Given the description of an element on the screen output the (x, y) to click on. 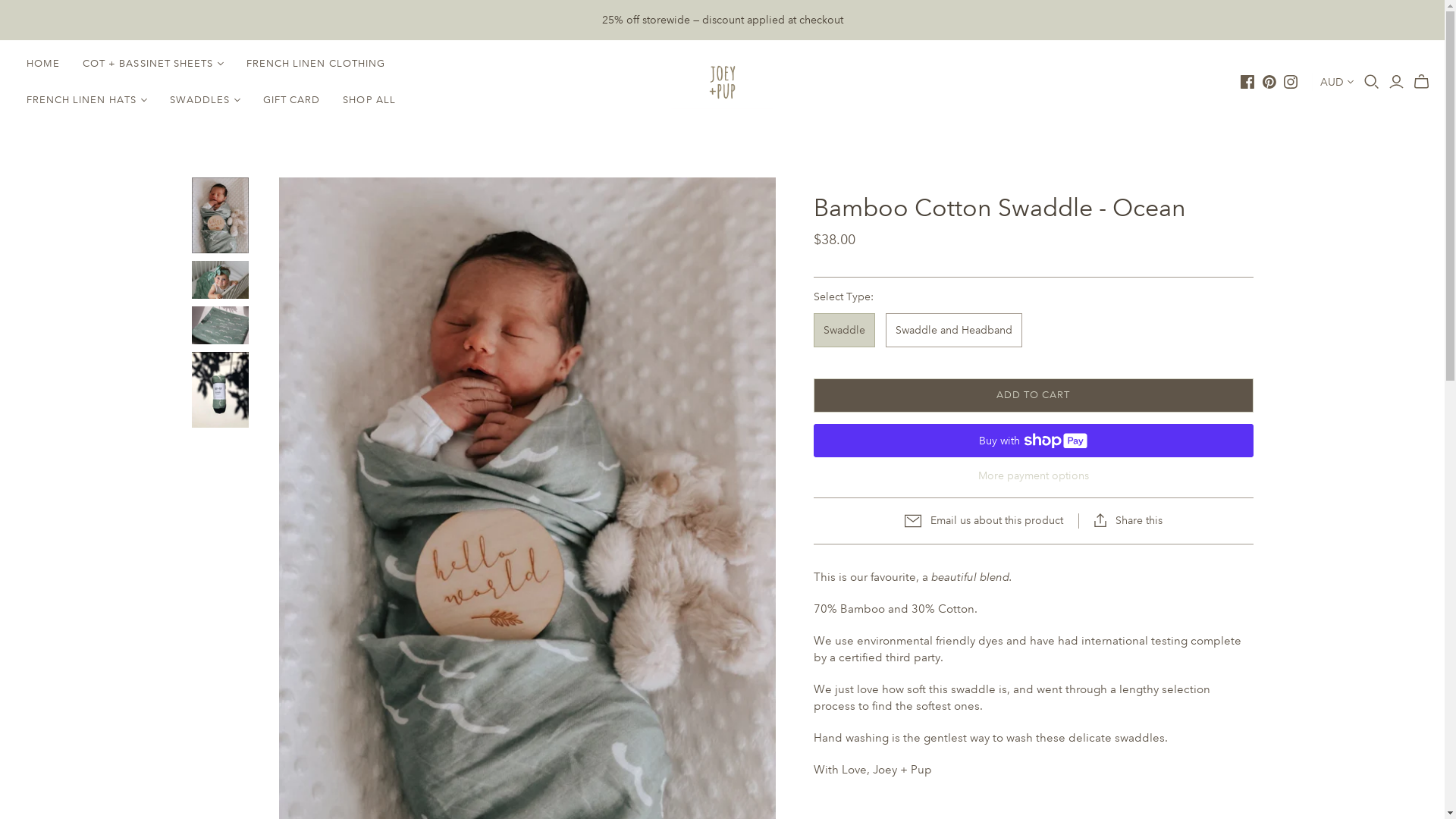
COT + BASSINET SHEETS Element type: text (153, 63)
SWADDLES Element type: text (204, 99)
GIFT CARD Element type: text (291, 99)
More payment options Element type: text (1032, 475)
SHOP ALL Element type: text (368, 99)
Share this Element type: text (1127, 520)
Email us about this product Element type: text (982, 520)
HOME Element type: text (43, 63)
FRENCH LINEN CLOTHING Element type: text (315, 63)
ADD TO CART Element type: text (1032, 395)
FRENCH LINEN HATS Element type: text (86, 99)
